Given the description of an element on the screen output the (x, y) to click on. 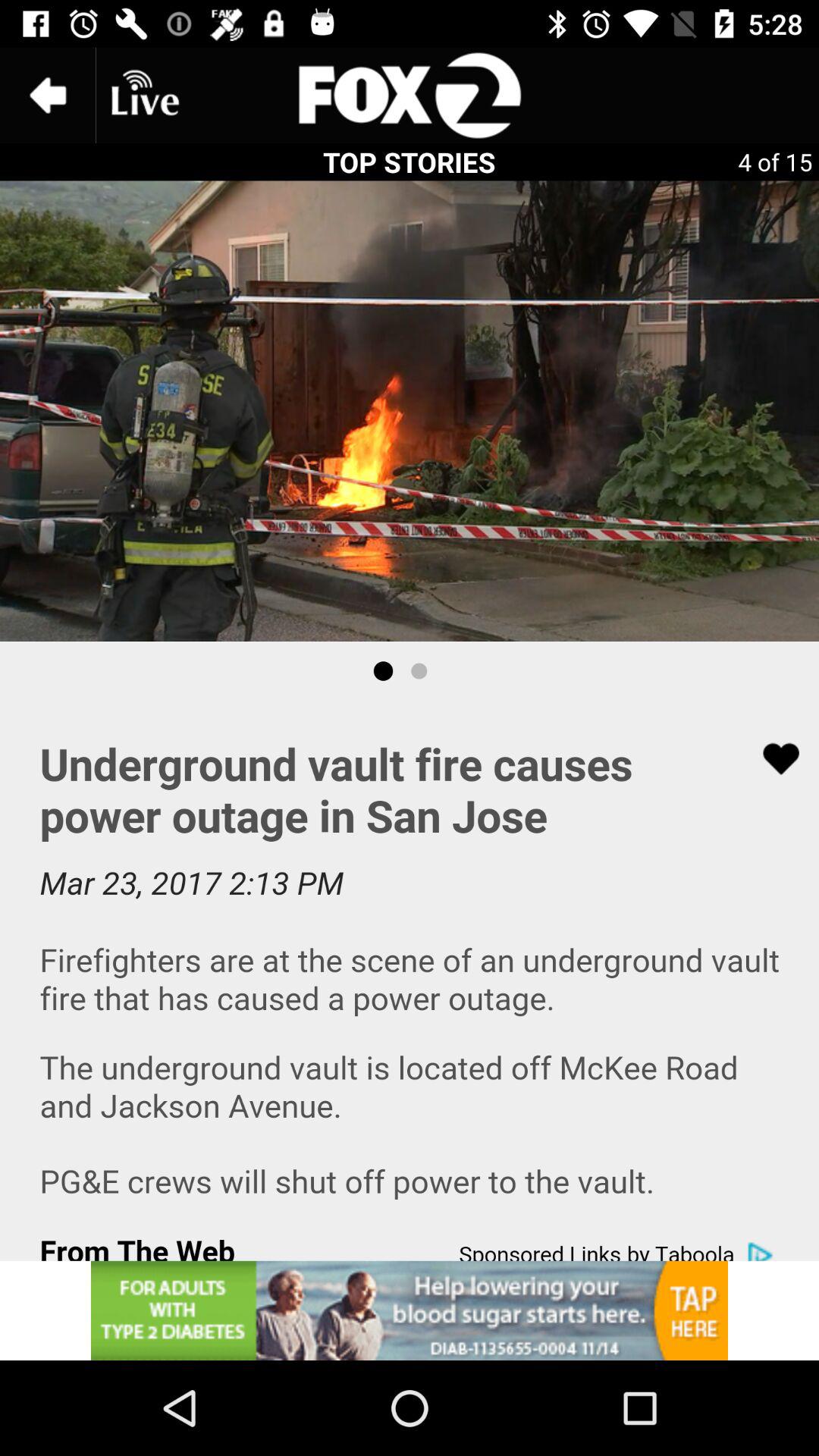
like the add (771, 758)
